Given the description of an element on the screen output the (x, y) to click on. 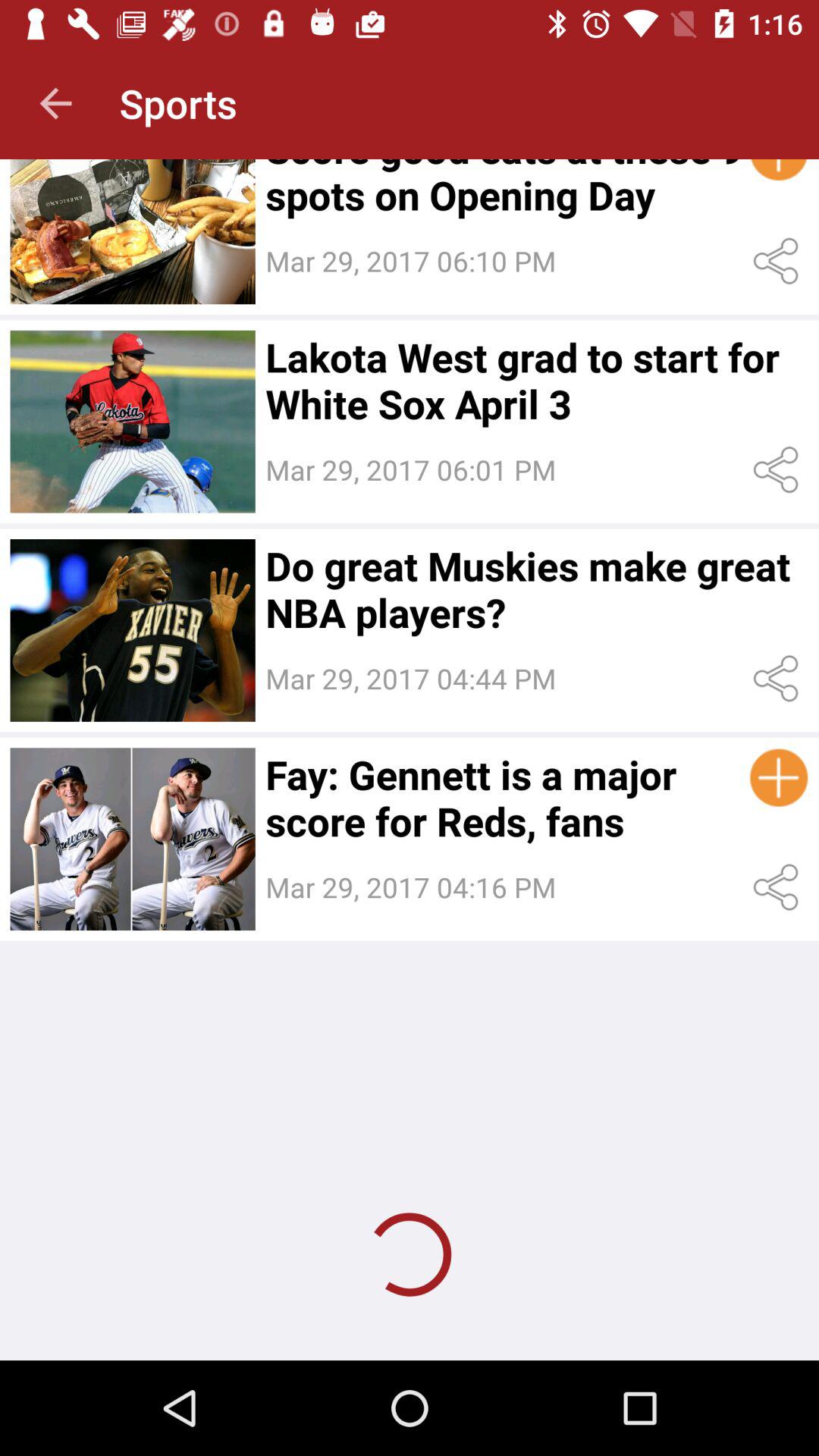
select icon next to the sports app (55, 103)
